Given the description of an element on the screen output the (x, y) to click on. 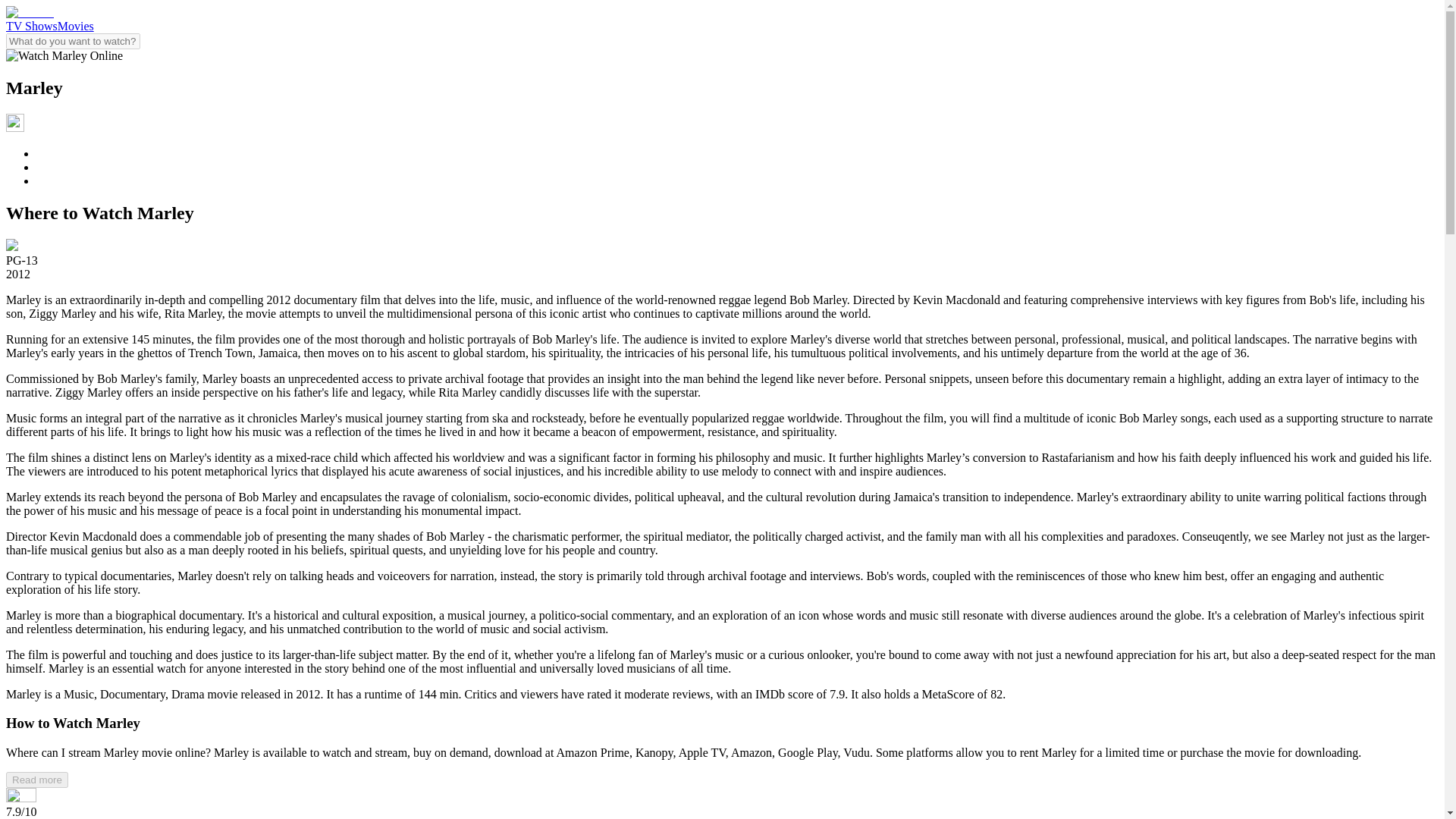
Movies (76, 25)
TV Shows (31, 25)
Read more (36, 779)
